Given the description of an element on the screen output the (x, y) to click on. 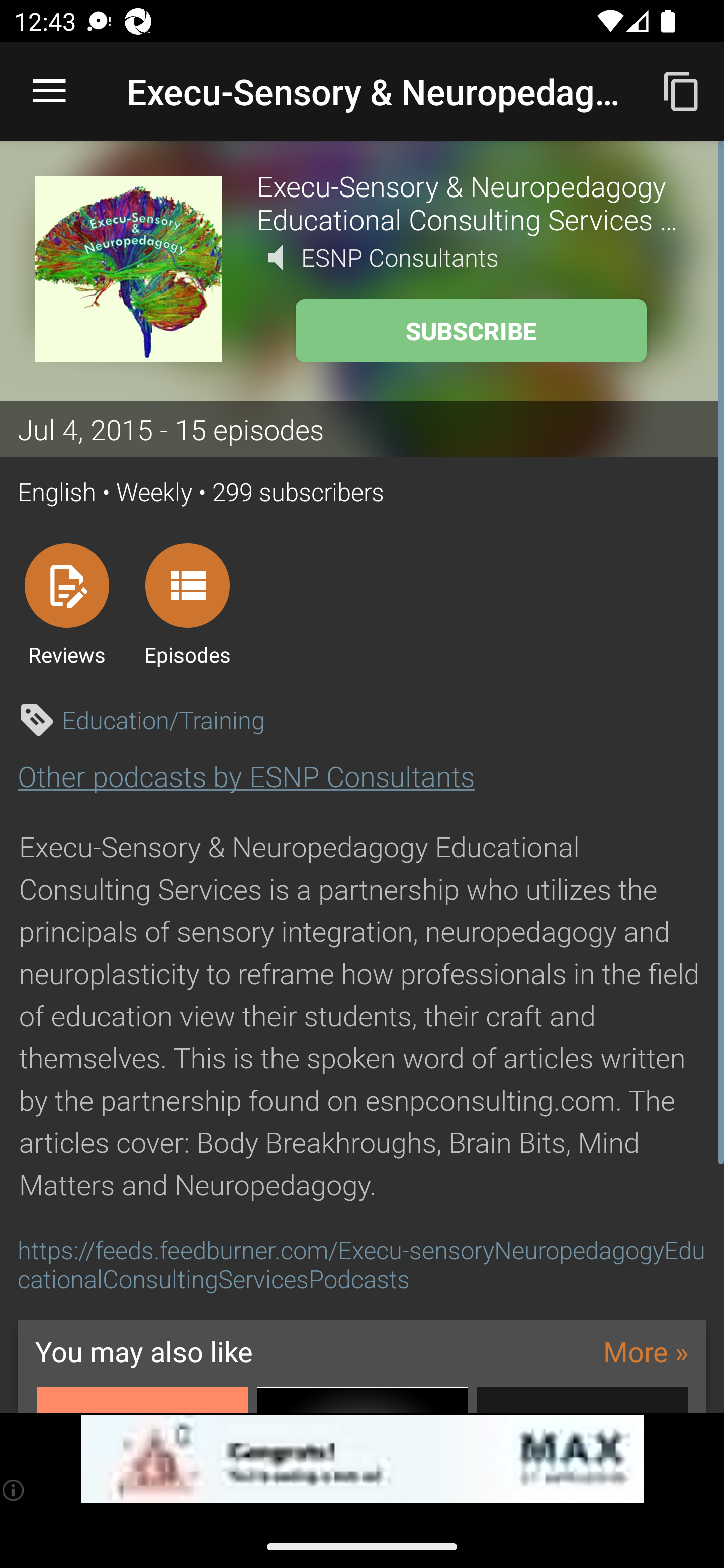
Open navigation sidebar (49, 91)
Copy feed url to clipboard (681, 90)
SUBSCRIBE (470, 330)
Reviews (66, 604)
Episodes (187, 604)
Other podcasts by ESNP Consultants (245, 775)
More » (645, 1351)
app-monetization (362, 1459)
(i) (14, 1489)
